Given the description of an element on the screen output the (x, y) to click on. 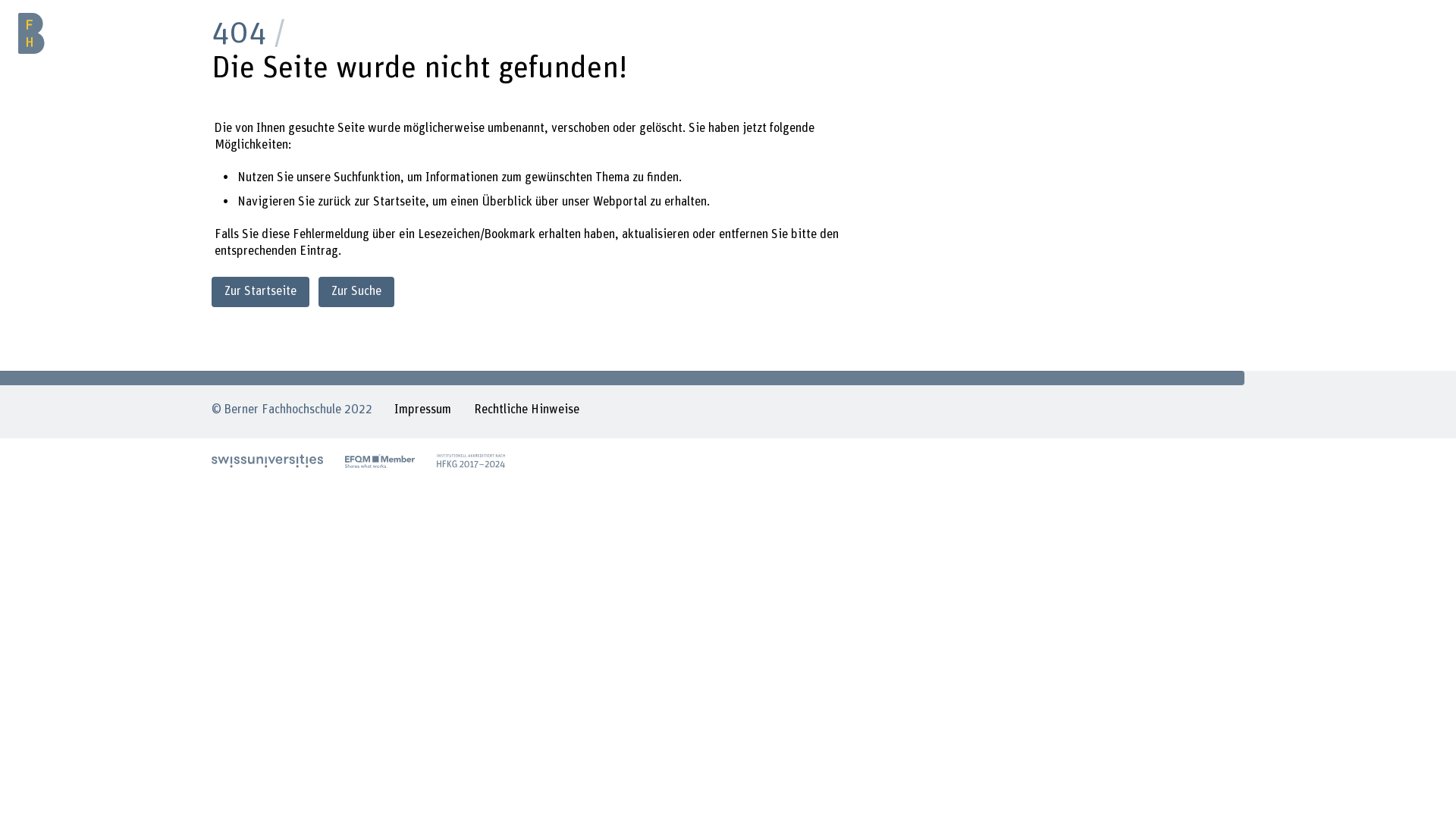
Akkreditierung Element type: hover (470, 460)
Zur Suche Element type: text (356, 291)
Rechtliche Hinweise Element type: text (525, 411)
Startseite Element type: text (399, 201)
Zur Startseite Element type: text (260, 291)
swissuniversities Element type: hover (267, 460)
Suchfunktion Element type: text (366, 177)
Impressum Element type: text (422, 411)
EFQM Member Element type: hover (379, 460)
